Given the description of an element on the screen output the (x, y) to click on. 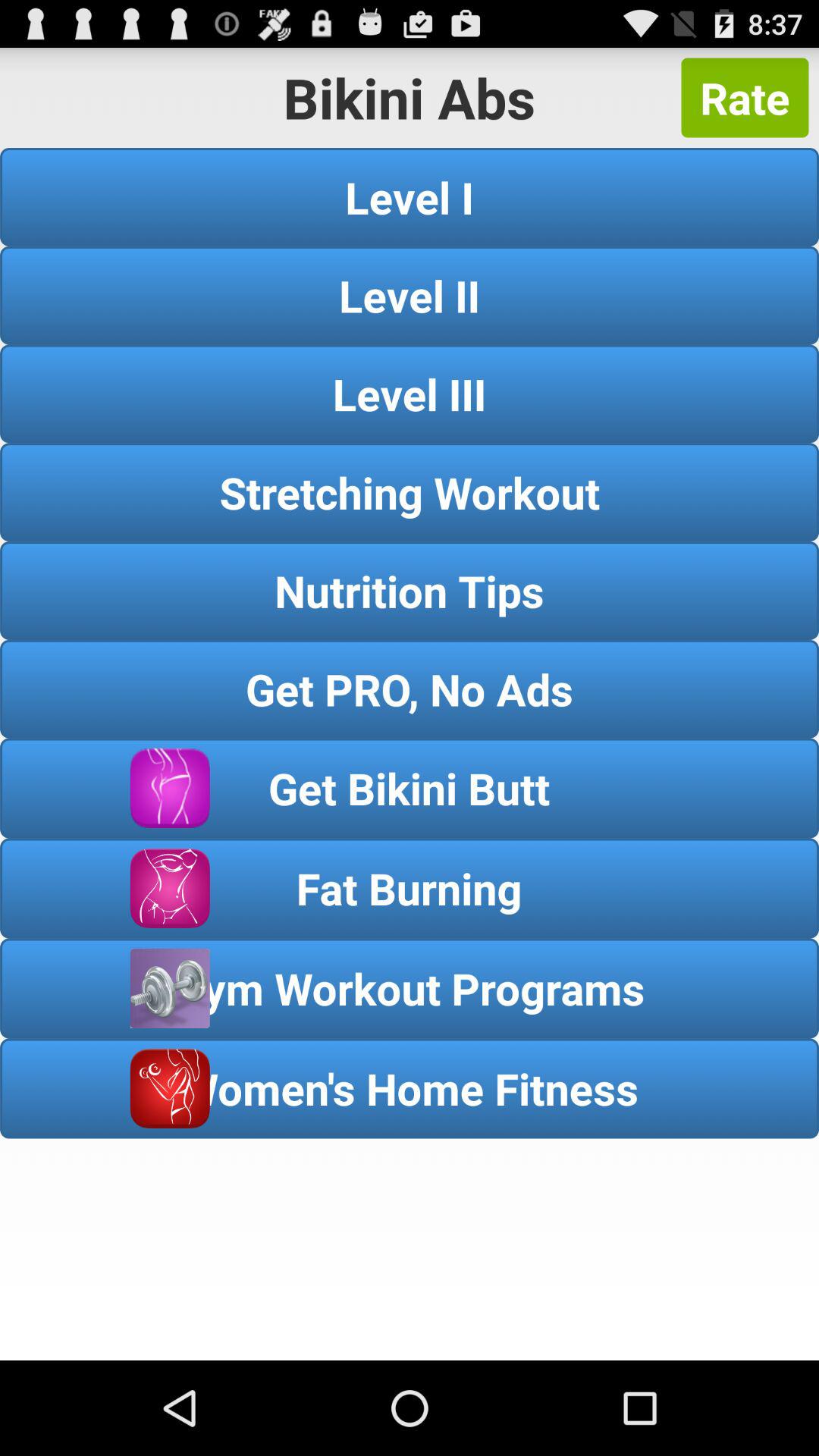
select item above level ii button (409, 196)
